Given the description of an element on the screen output the (x, y) to click on. 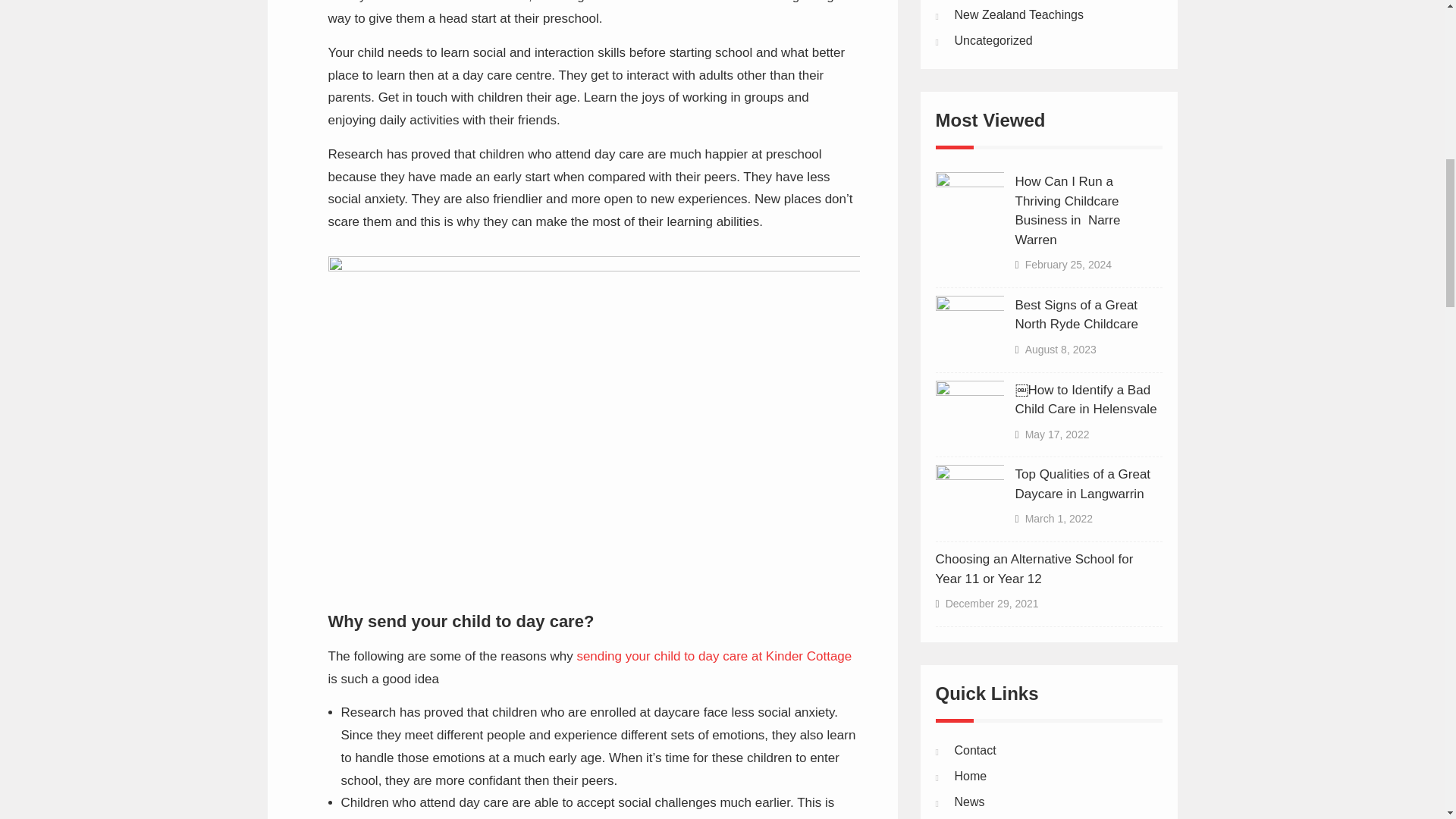
sending your child to day care at Kinder Cottage (713, 656)
